Given the description of an element on the screen output the (x, y) to click on. 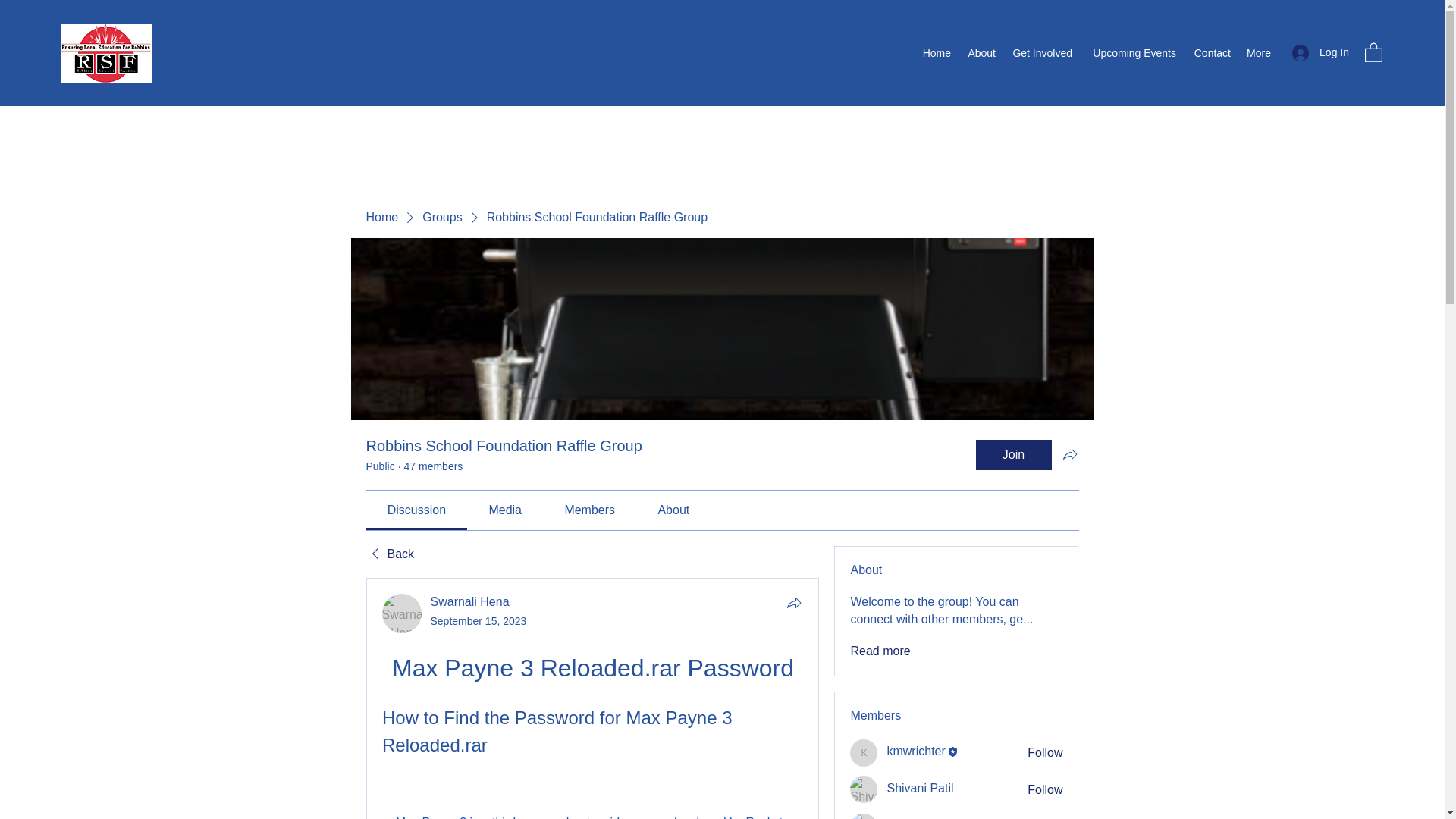
Back (389, 554)
Get Involved (1041, 52)
Home (936, 52)
Home (381, 217)
Follow (1044, 752)
Shivani Patil (863, 789)
Swarnali Hena (401, 613)
September 15, 2023 (478, 621)
kmwrichter (915, 750)
Join (1013, 454)
Follow (1044, 790)
Log In (1320, 52)
Groups (441, 217)
Read more (880, 651)
About (980, 52)
